Given the description of an element on the screen output the (x, y) to click on. 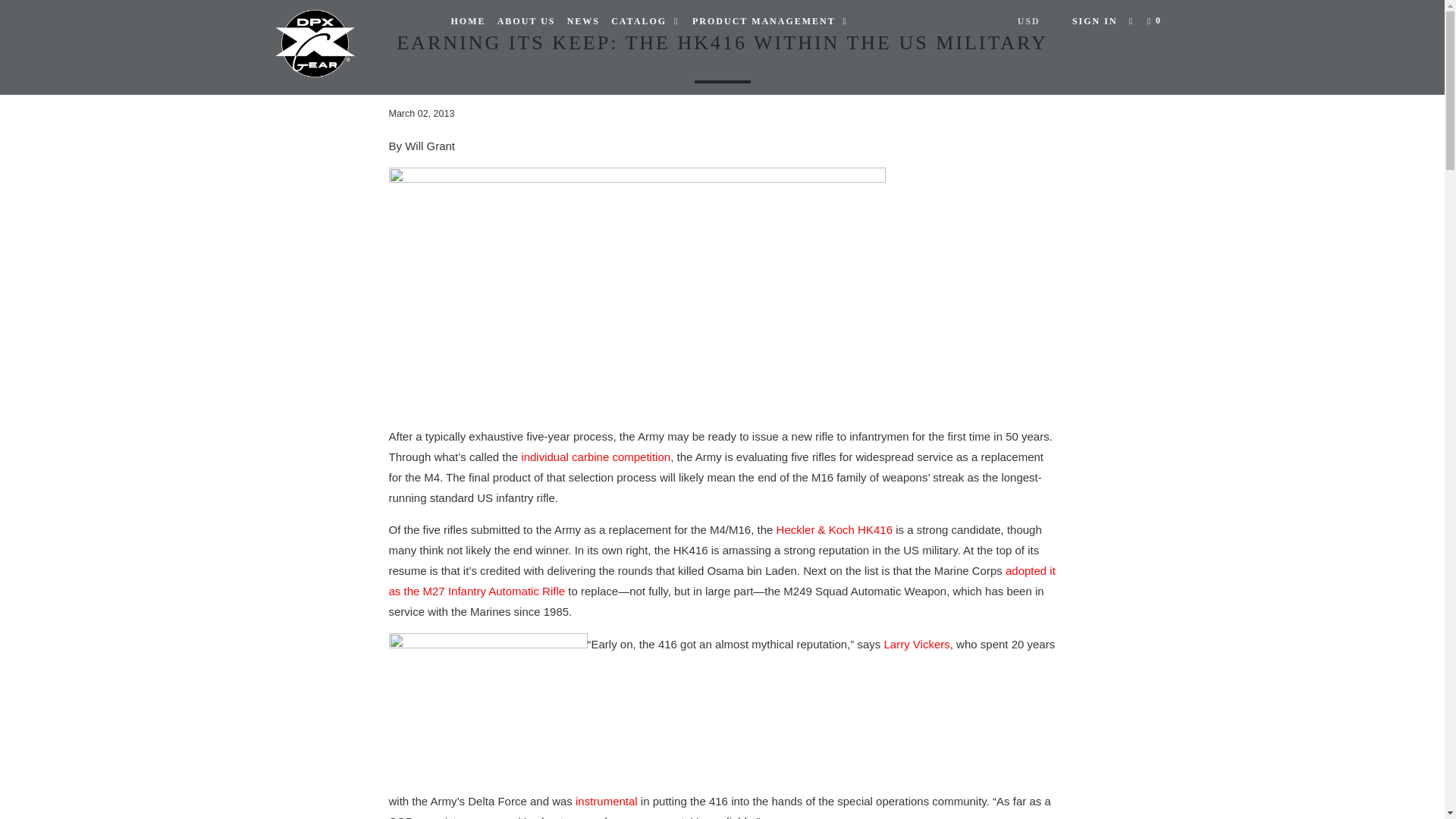
CATALOG   (646, 21)
PRODUCT MANAGEMENT   (769, 21)
DPx Gear Inc. (352, 47)
ABOUT US (527, 21)
NEWS (583, 21)
SIGN IN (1094, 21)
HOME (466, 21)
0 (1155, 21)
My Account  (1094, 21)
HK MR556A1 and operator on helo (487, 707)
